Given the description of an element on the screen output the (x, y) to click on. 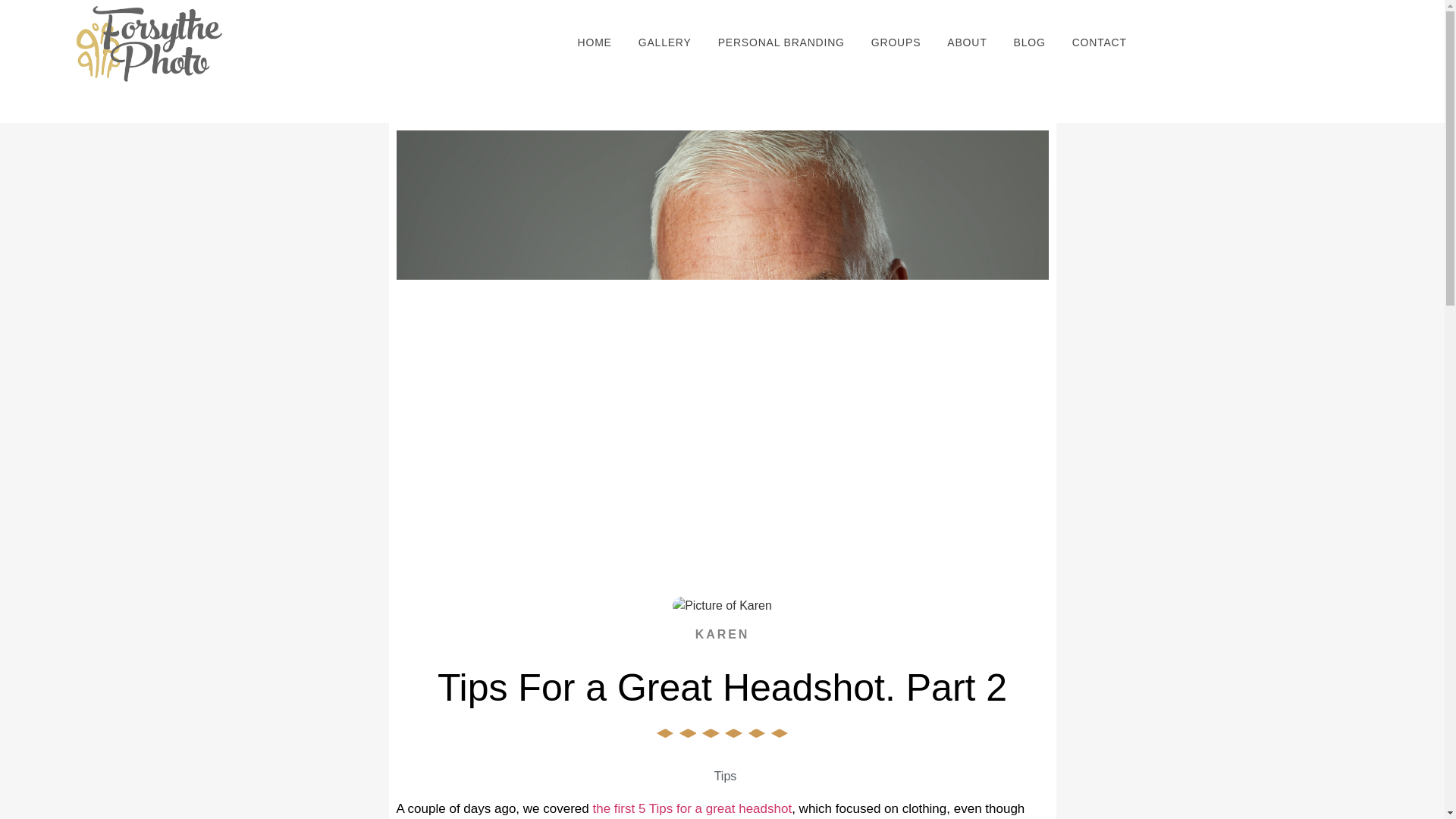
GROUPS (895, 42)
BLOG (1030, 42)
Tips (725, 775)
PERSONAL BRANDING (781, 42)
ABOUT (966, 42)
GALLERY (665, 42)
the first 5 Tips for a great headshot (692, 808)
CONTACT (1099, 42)
HOME (594, 42)
